Given the description of an element on the screen output the (x, y) to click on. 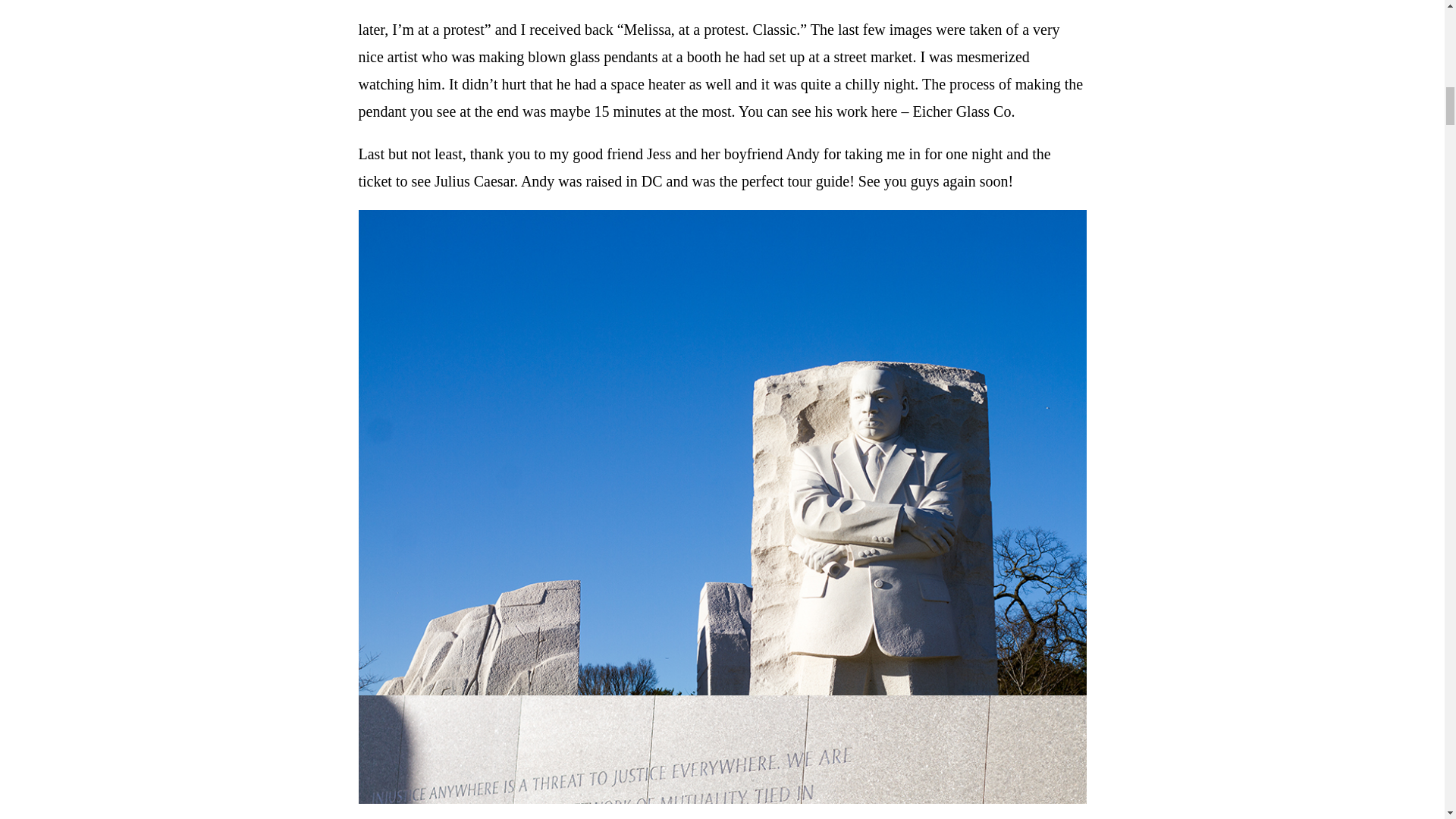
Eicher Glass Co (961, 111)
Julius Caesar (473, 180)
